Given the description of an element on the screen output the (x, y) to click on. 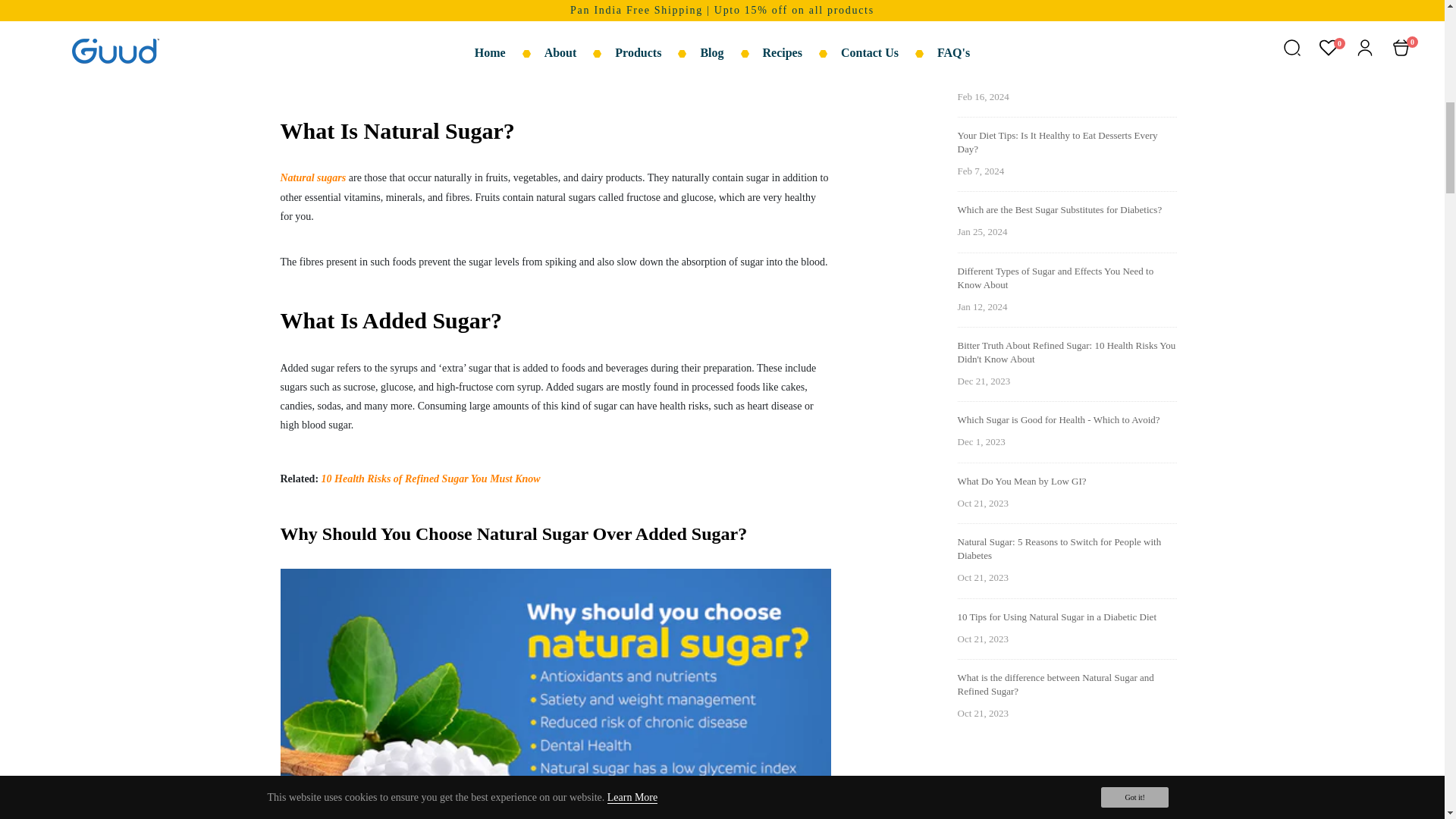
natural sugar (313, 177)
